Given the description of an element on the screen output the (x, y) to click on. 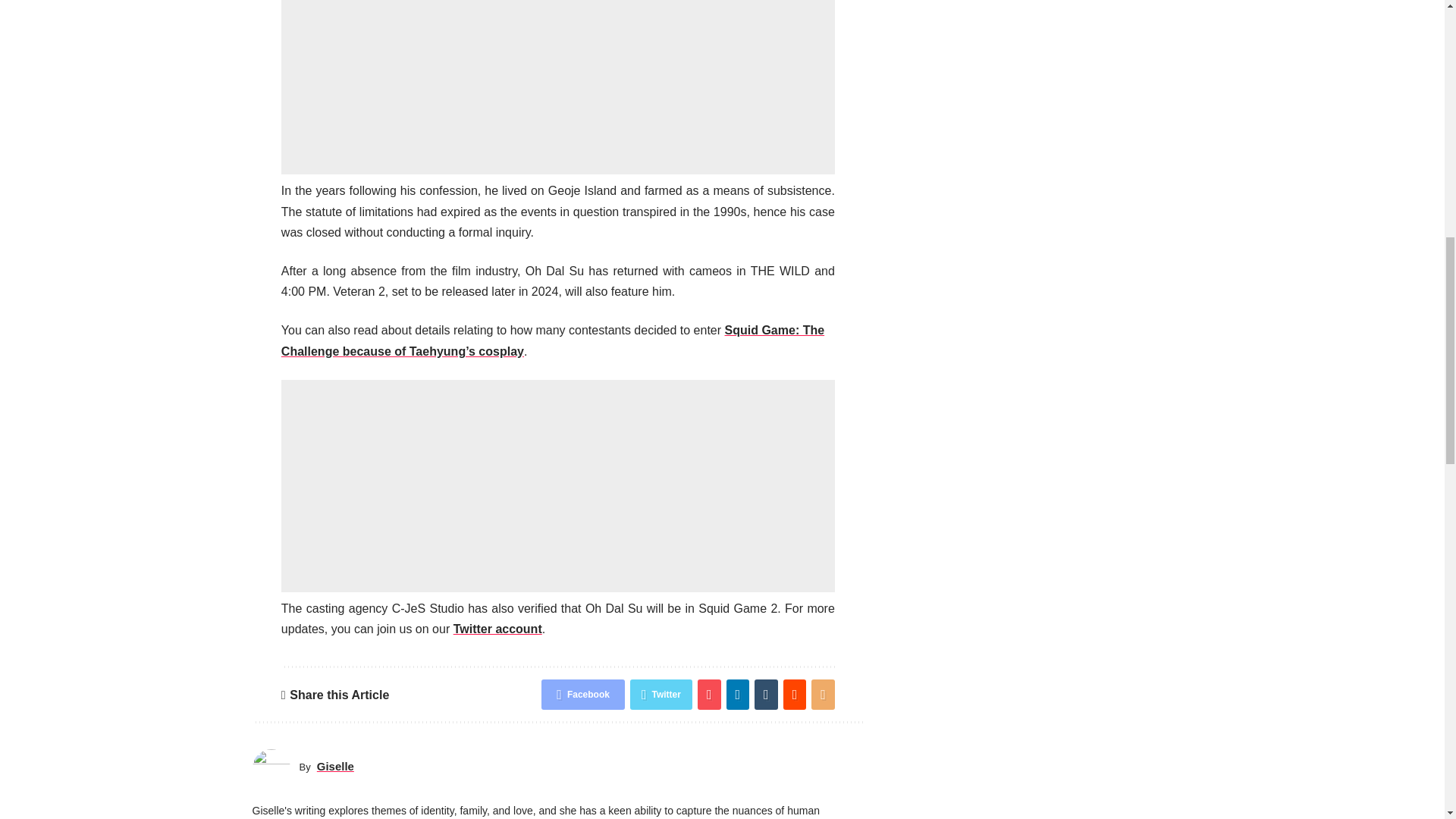
Advertisement (557, 87)
Advertisement (557, 486)
Facebook (582, 694)
Giselle (335, 766)
Twitter account (496, 628)
Twitter (661, 694)
